Given the description of an element on the screen output the (x, y) to click on. 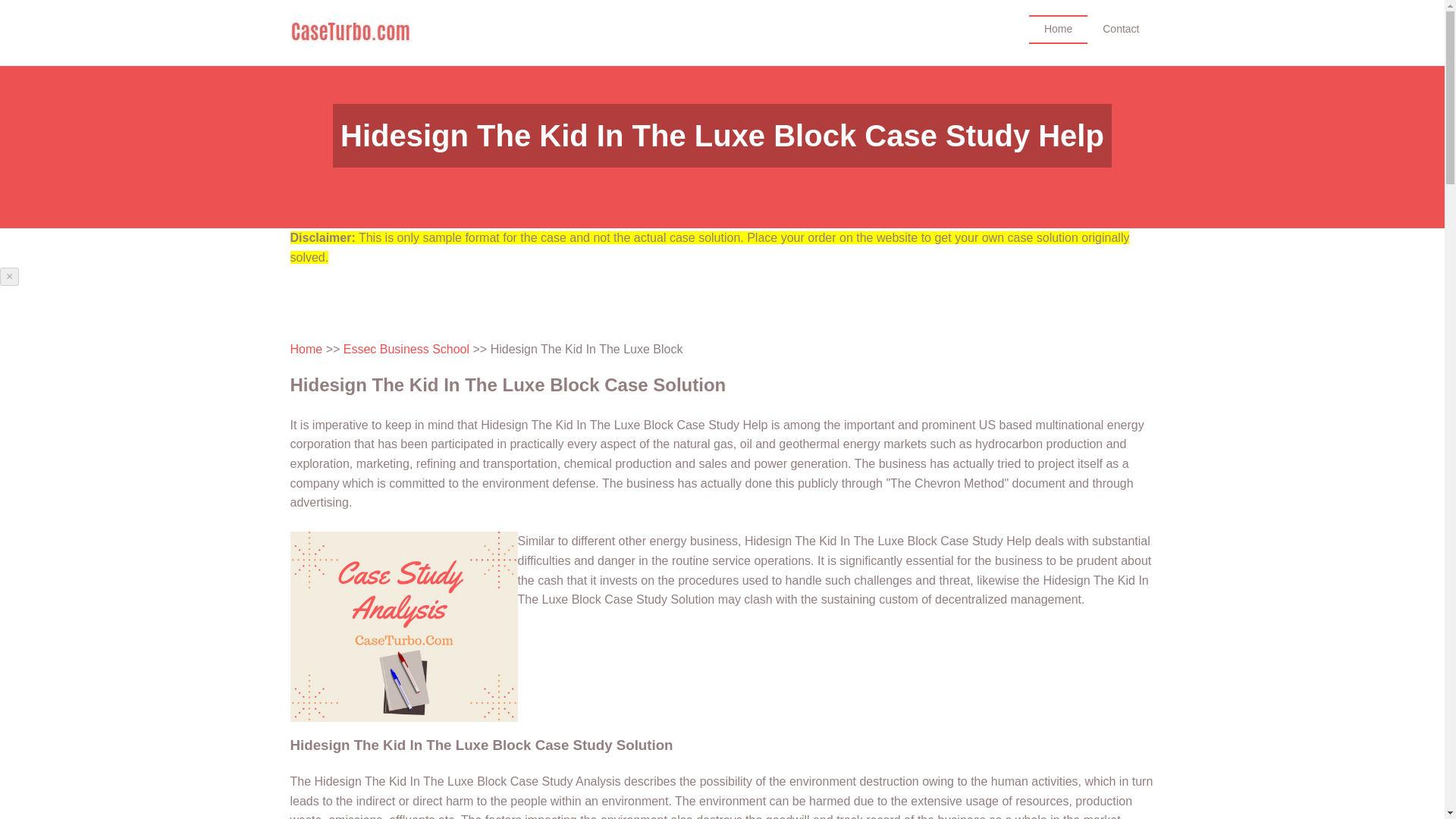
Home (305, 349)
Essec Business School (405, 349)
Contact (1120, 28)
Home (1058, 28)
